Given the description of an element on the screen output the (x, y) to click on. 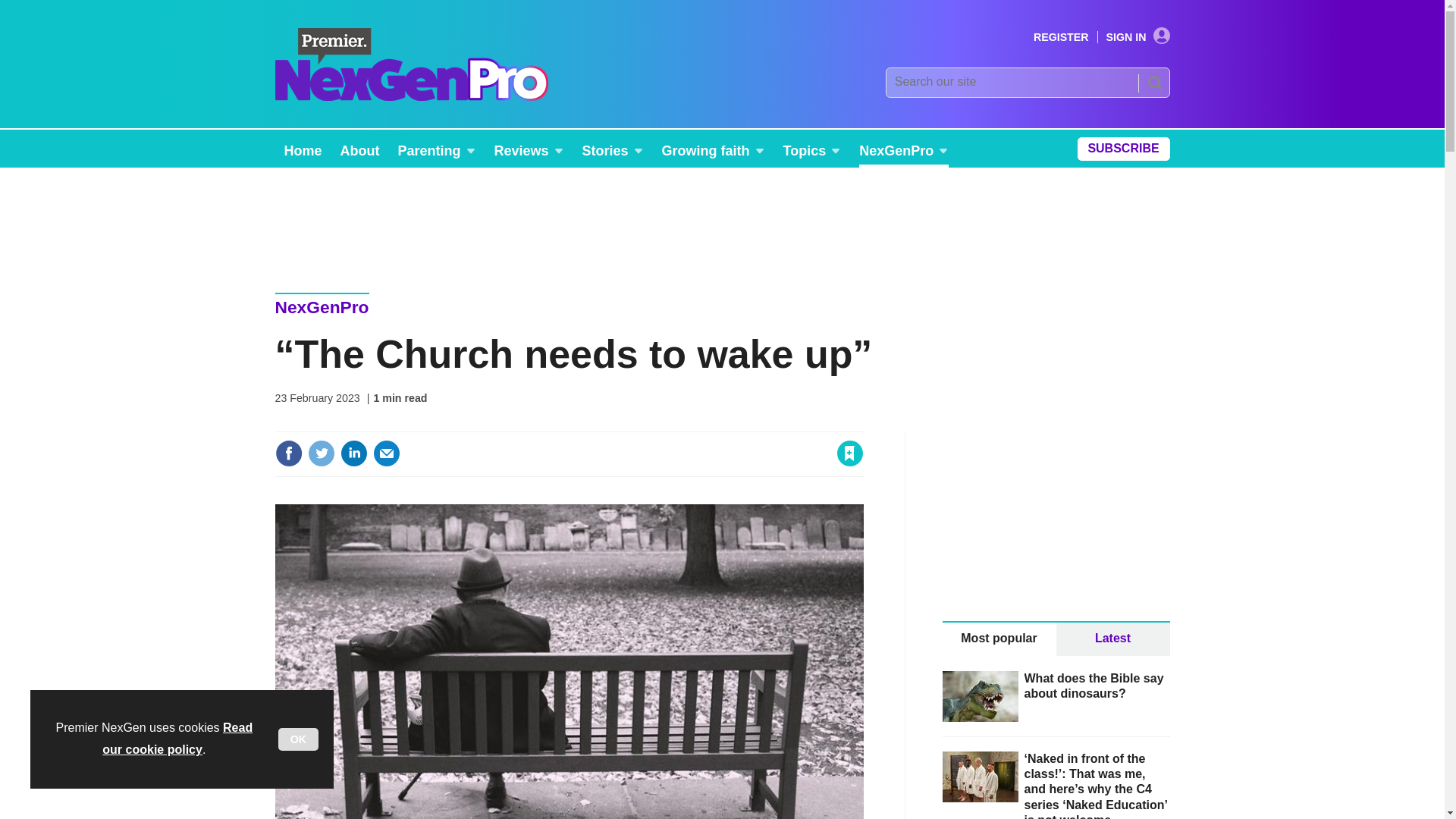
3rd party ad content (1055, 525)
Share this on Linked in (352, 452)
SIGN IN (1138, 37)
3rd party ad content (721, 219)
SEARCH (1153, 82)
OK (298, 739)
Share this on Facebook (288, 452)
Email this article (386, 452)
Parenting (436, 148)
Home (302, 148)
